Given the description of an element on the screen output the (x, y) to click on. 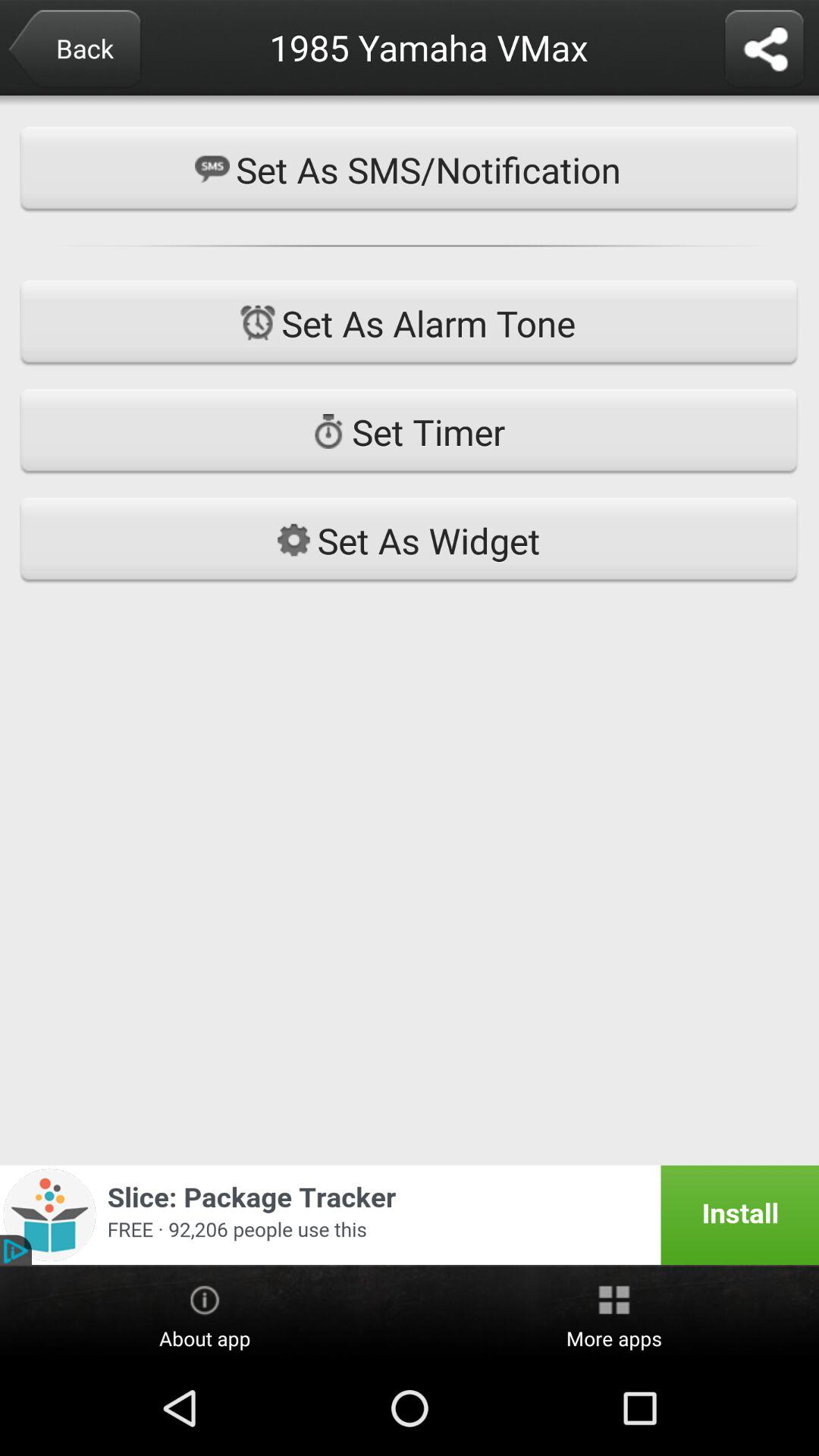
launch icon at the bottom (409, 1214)
